Given the description of an element on the screen output the (x, y) to click on. 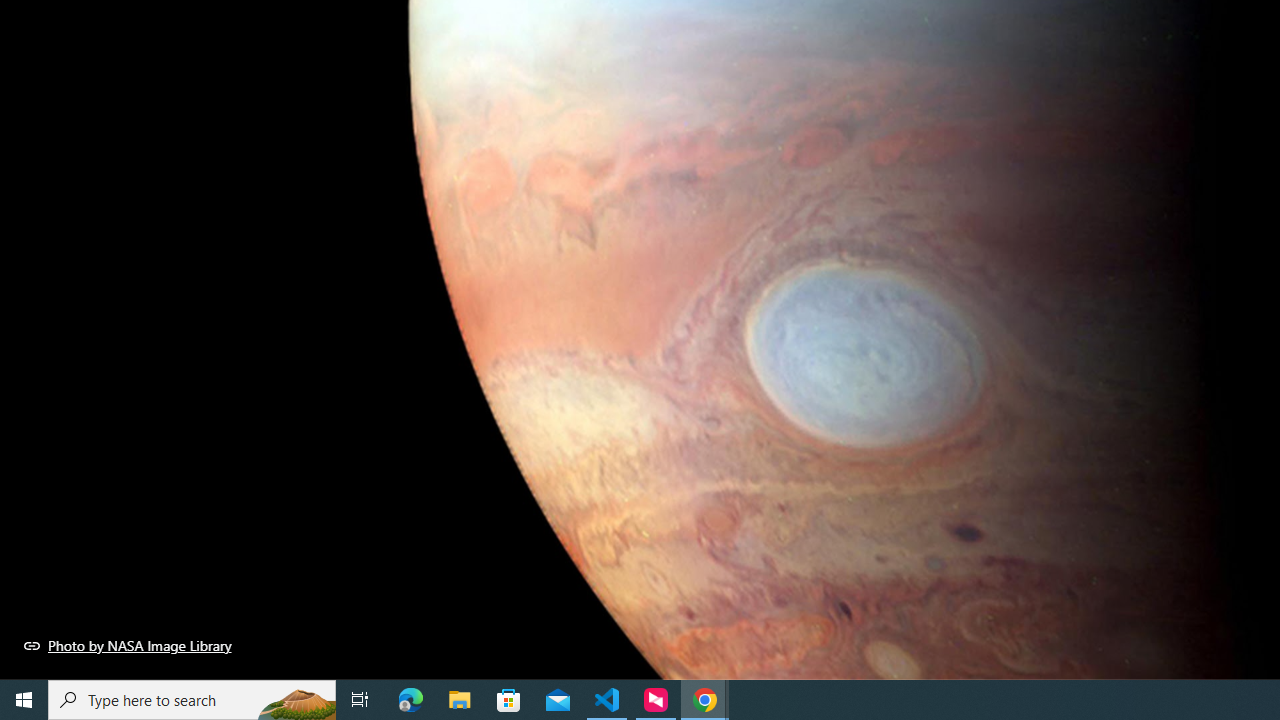
Photo by NASA Image Library (127, 645)
